Given the description of an element on the screen output the (x, y) to click on. 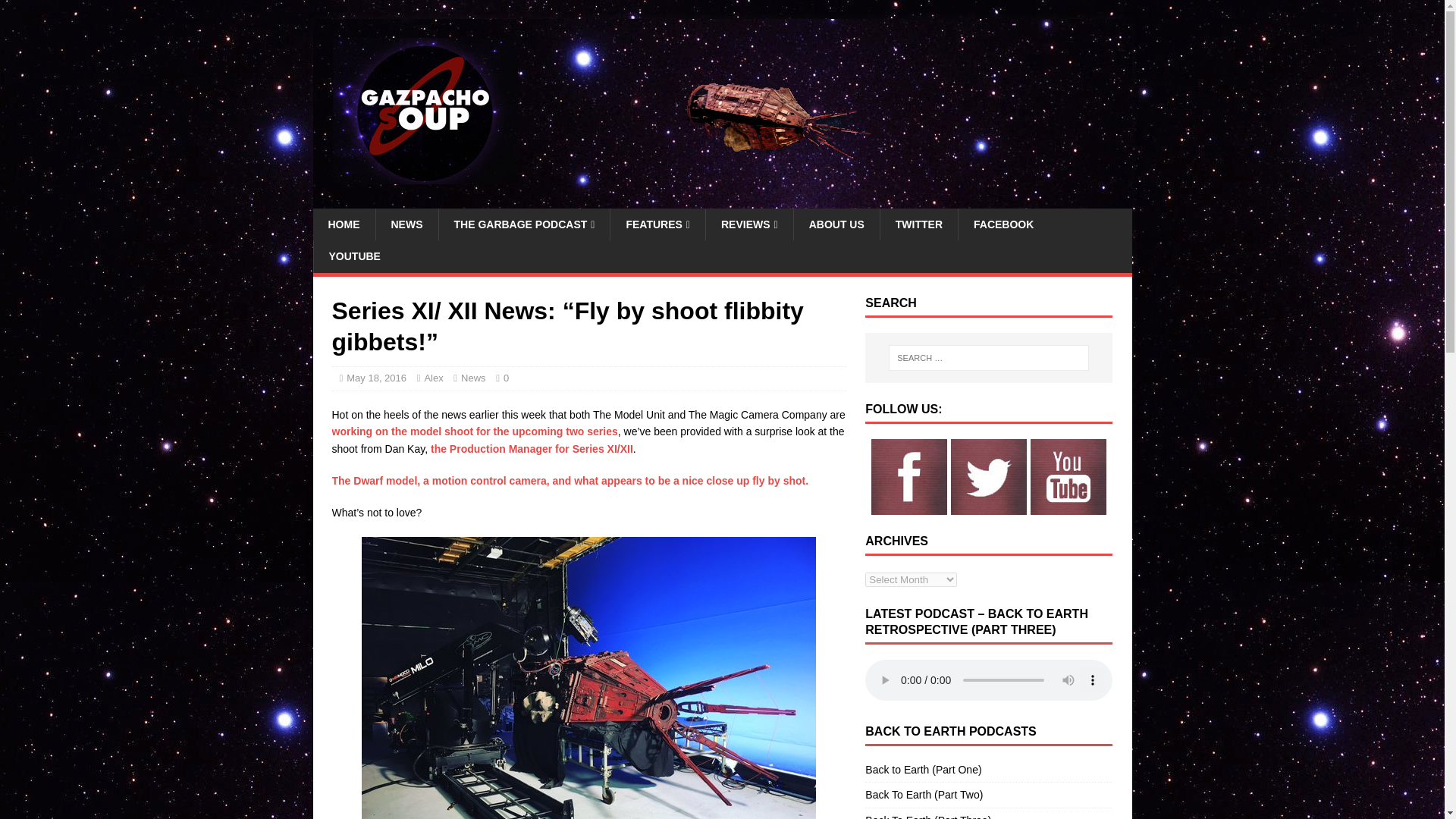
FEATURES (657, 224)
NEWS (406, 224)
REVIEWS (748, 224)
HOME (343, 224)
Like Our Facebook Page (908, 506)
Follow Our Updates On Twitter (988, 506)
THE GARBAGE PODCAST (524, 224)
Gazpacho Soup (722, 200)
Follow us on YouTube (1068, 506)
